Given the description of an element on the screen output the (x, y) to click on. 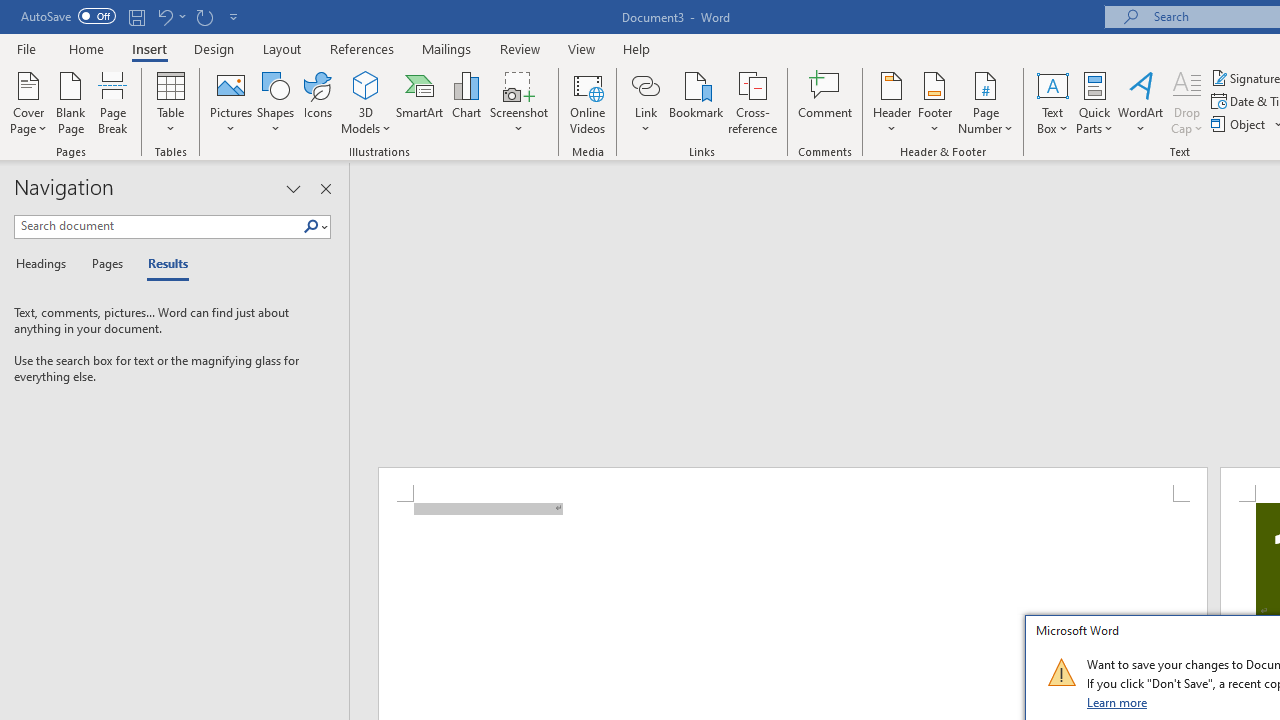
Online Videos... (588, 102)
Link (645, 84)
Repeat Doc Close (204, 15)
Object... (1240, 124)
Shapes (275, 102)
Quick Parts (1094, 102)
WordArt (1141, 102)
Icons (317, 102)
